Given the description of an element on the screen output the (x, y) to click on. 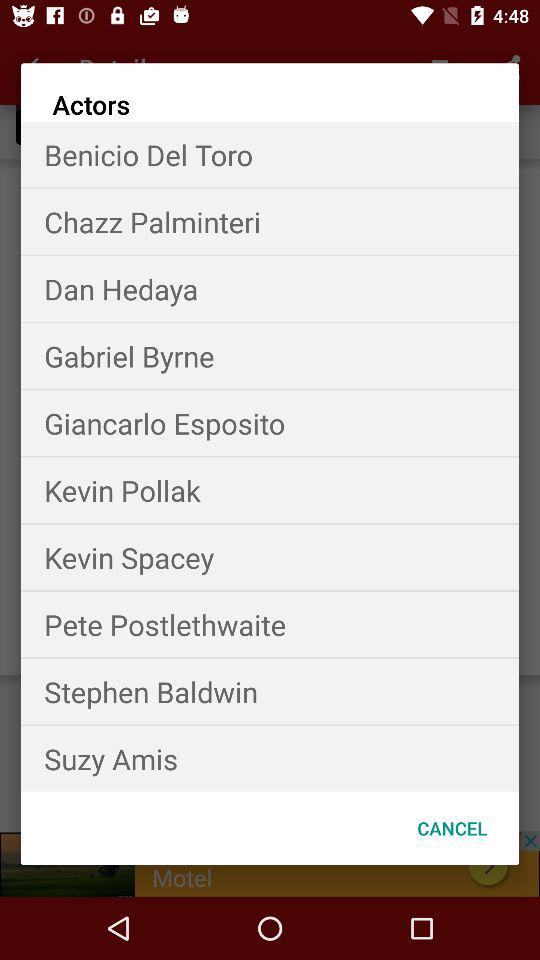
select the icon below    giancarlo esposito (269, 489)
